Given the description of an element on the screen output the (x, y) to click on. 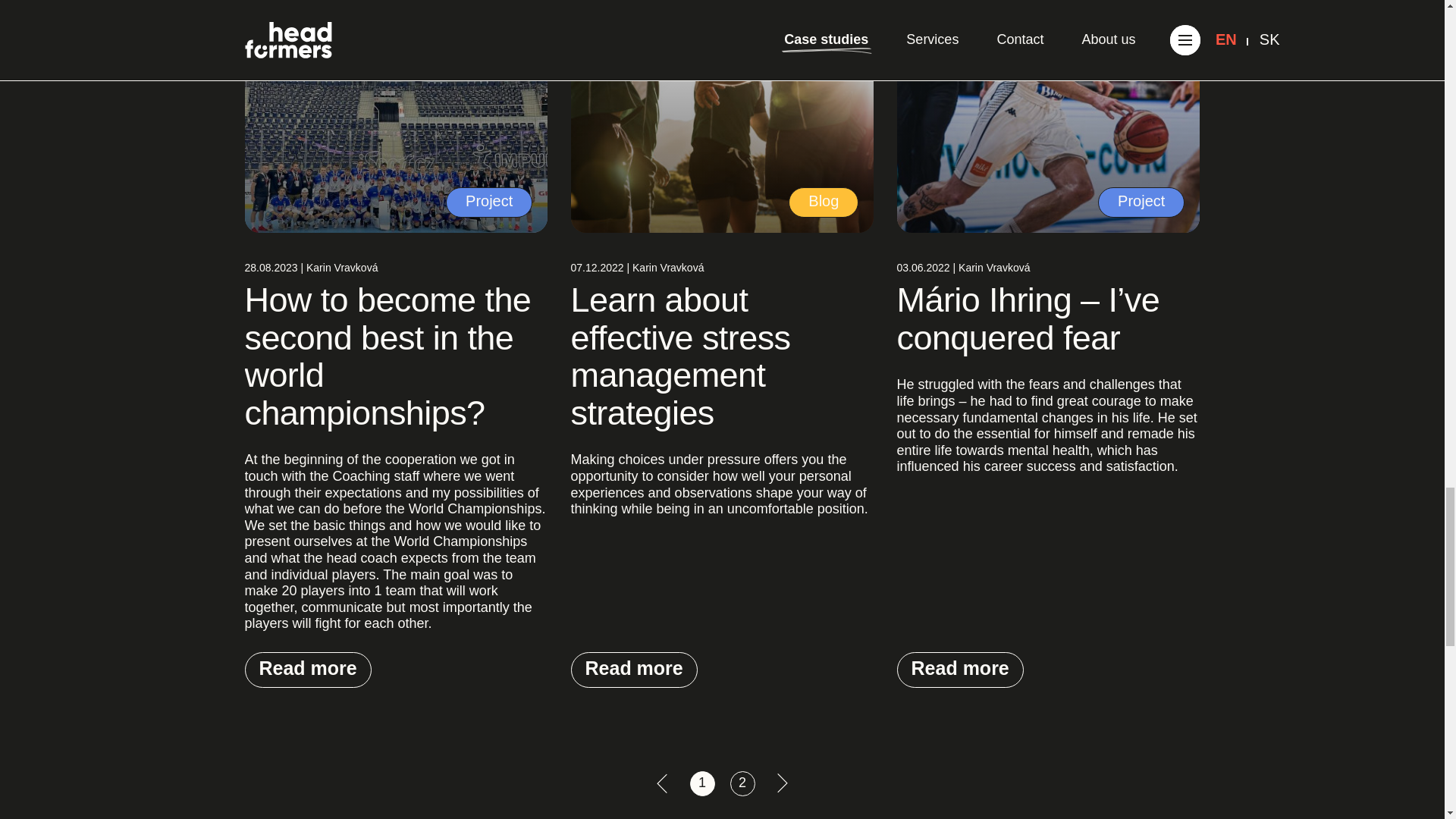
Read more (307, 669)
Read more (633, 669)
Learn about effective stress management strategies (680, 356)
How to become the second best in the world championships? (387, 356)
